Given the description of an element on the screen output the (x, y) to click on. 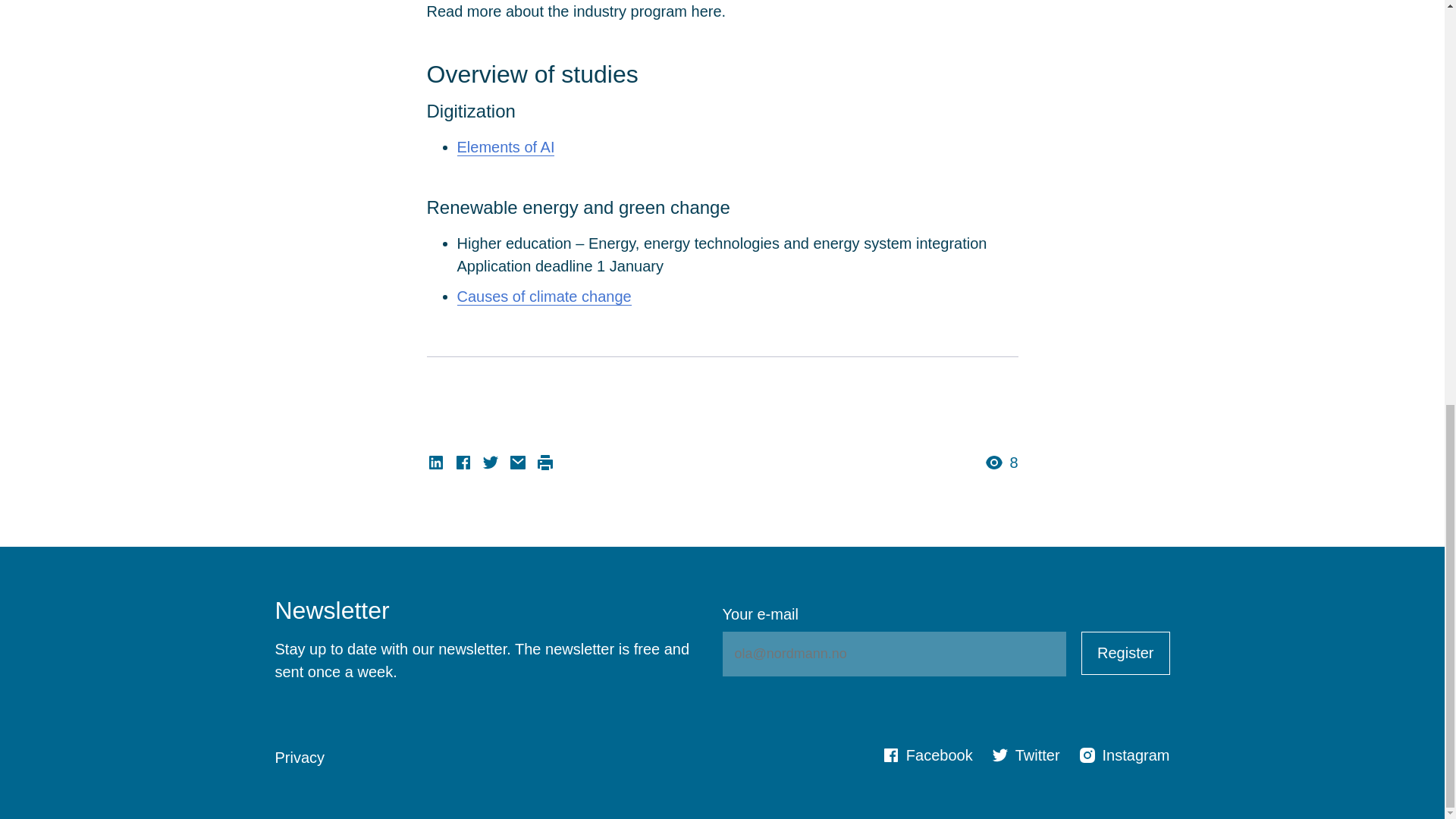
Causes of climate change (543, 296)
Share on LinkedIn (435, 462)
Share on Facebook (461, 462)
Print (544, 462)
Share on email (516, 462)
Share on Twitter (489, 462)
Elements of AI (505, 146)
Privacy (299, 756)
Register (1125, 652)
